Given the description of an element on the screen output the (x, y) to click on. 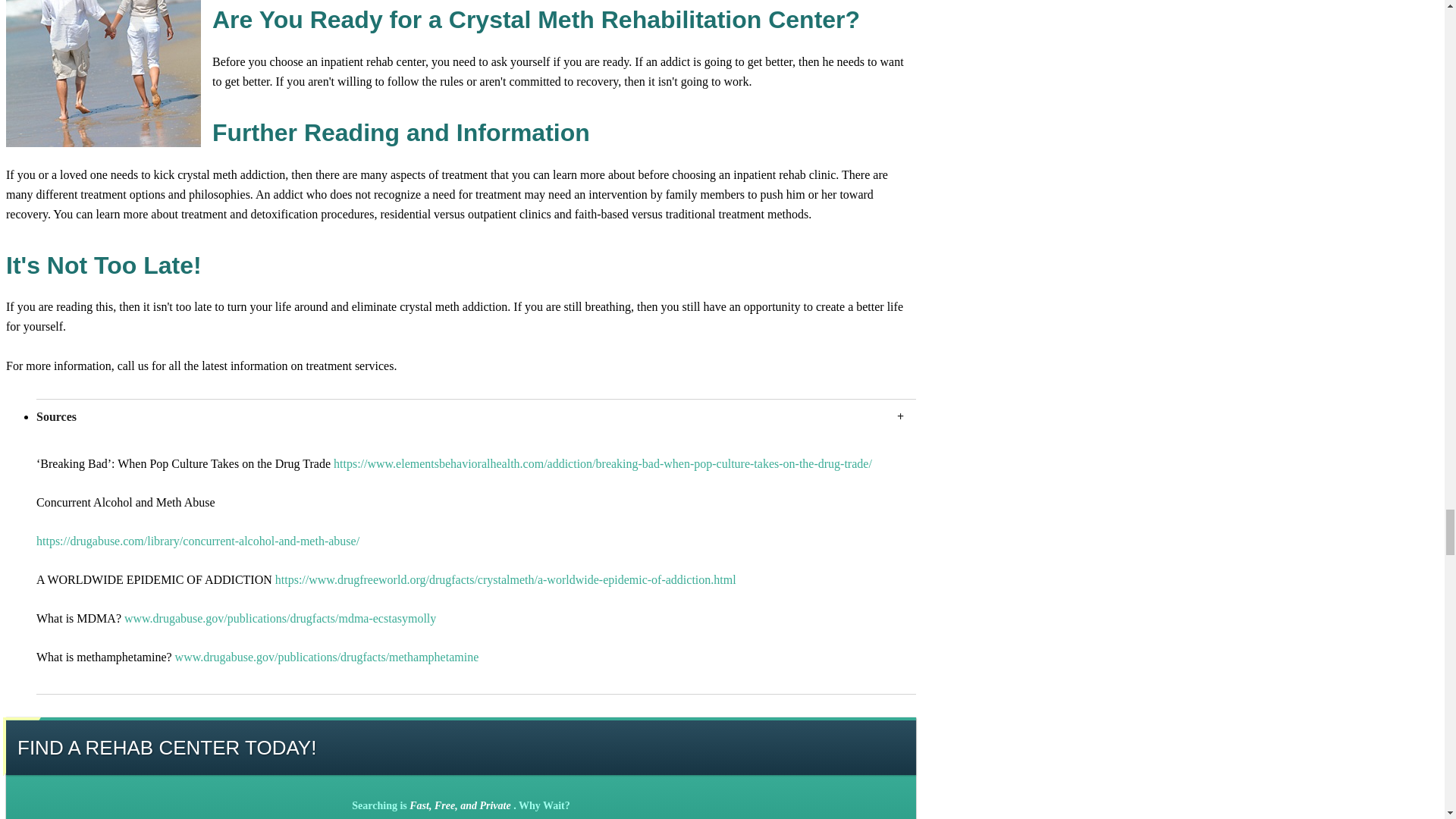
Sources (475, 416)
